Given the description of an element on the screen output the (x, y) to click on. 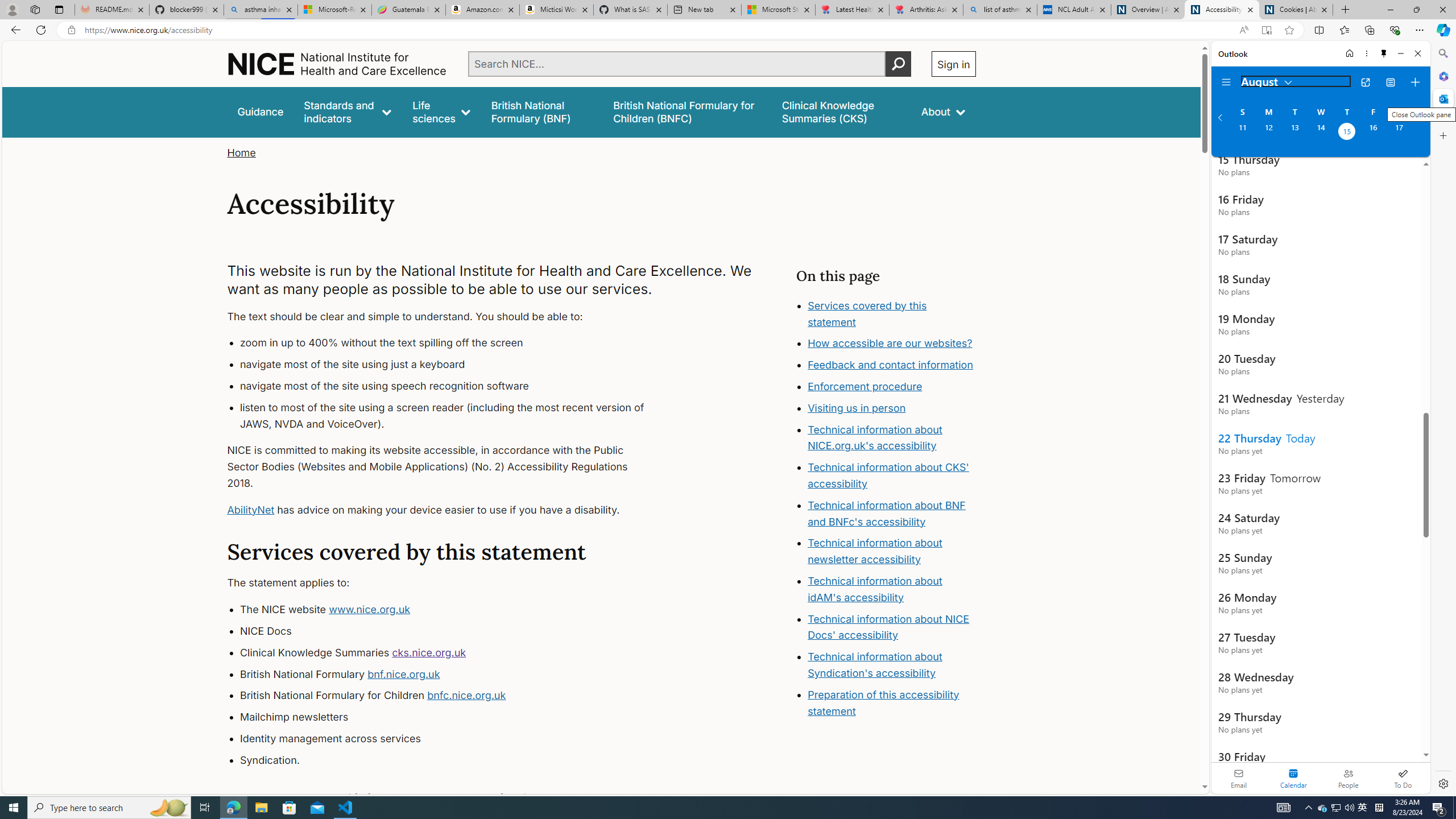
August (1267, 80)
Guidance (260, 111)
Friday, August 16, 2024.  (1372, 132)
Microsoft-Report a Concern to Bing (334, 9)
navigate most of the site using speech recognition software (452, 385)
Side bar (1443, 418)
